Given the description of an element on the screen output the (x, y) to click on. 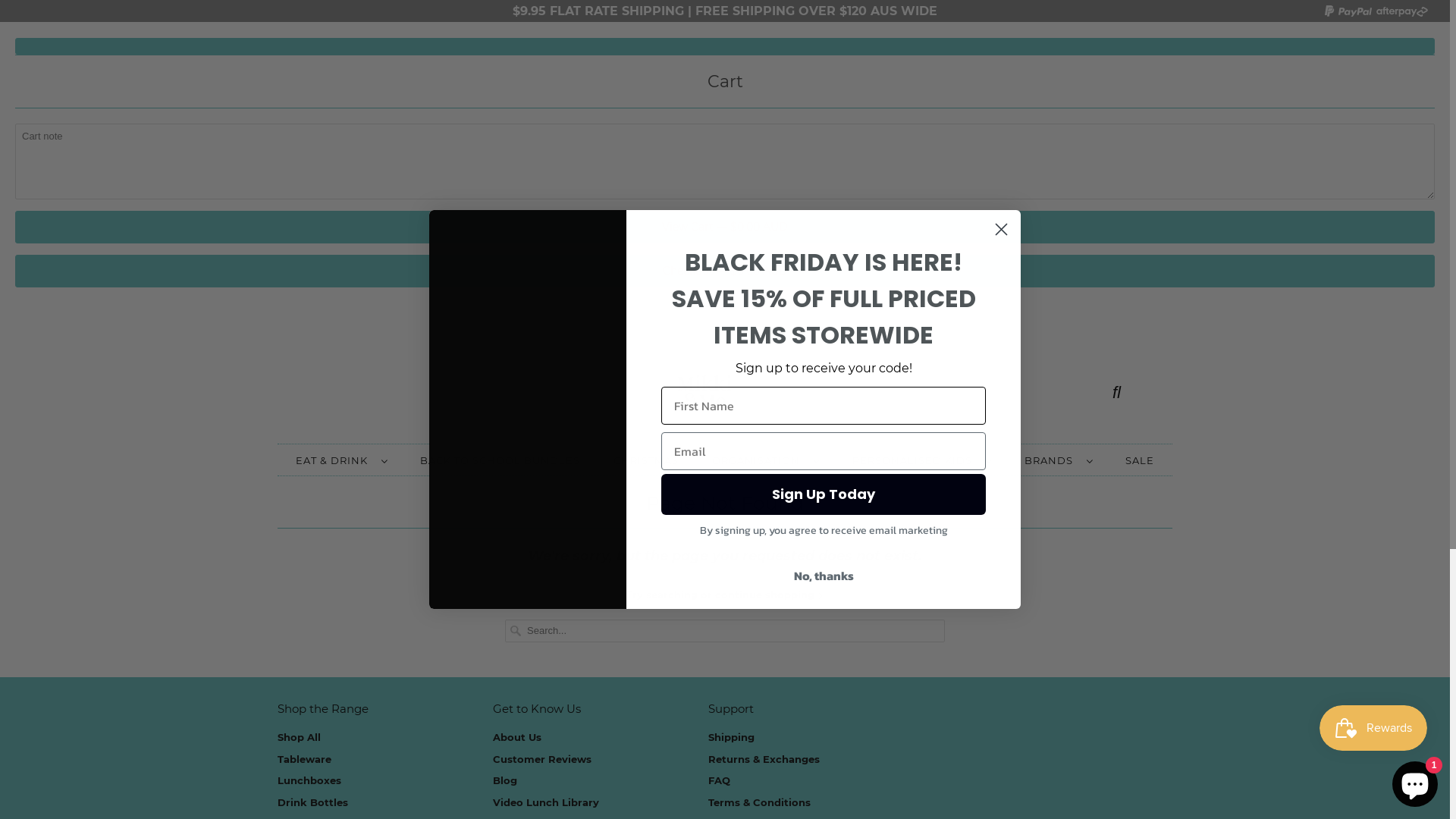
Close dialog 1 Element type: text (1001, 229)
Blog Element type: text (504, 780)
Sign Up Today Element type: text (823, 493)
Tableware Element type: text (304, 759)
SALE Element type: text (1139, 460)
Video Lunch Library Element type: text (545, 802)
Shop All Element type: text (298, 737)
Drink Bottles Element type: text (312, 802)
continue shopping Element type: text (769, 594)
Shipping Element type: text (731, 737)
FAQ Element type: text (719, 780)
Customer Reviews Element type: text (541, 759)
No, thanks Element type: text (823, 575)
Terms & Conditions Element type: text (759, 802)
About Us Element type: text (516, 737)
Shopify online store chat Element type: hover (1414, 780)
CHRISTMAS Element type: text (645, 460)
Smile.io Rewards Program Launcher Element type: hover (1373, 727)
BACK TO SCHOOL BUNDLES Element type: text (500, 460)
Lunchboxes Element type: text (309, 780)
Submit Element type: text (295, 16)
Returns & Exchanges Element type: text (763, 759)
